Given the description of an element on the screen output the (x, y) to click on. 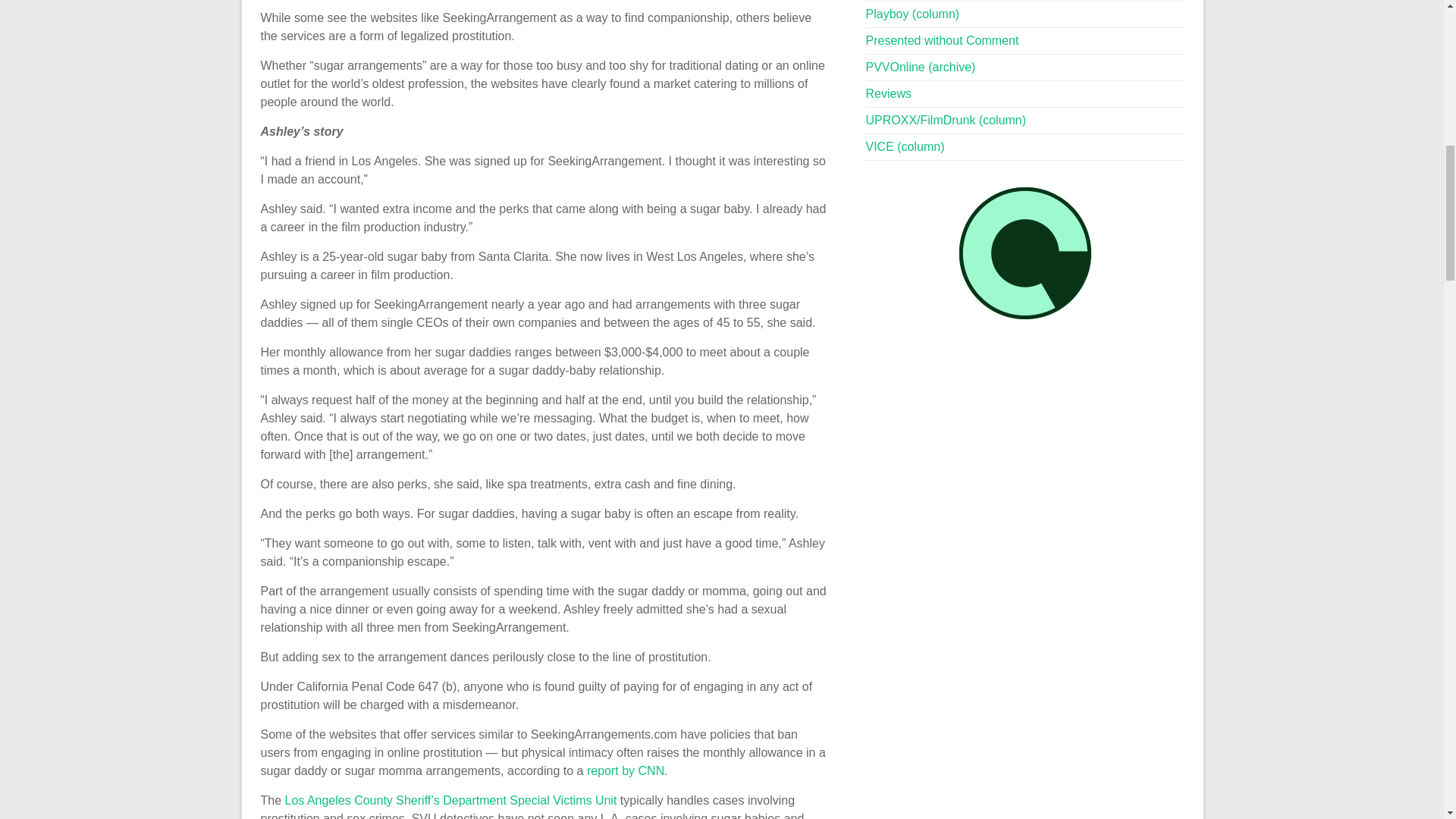
College 'sugar babies' date for cash (624, 770)
report by CNN (624, 770)
